Given the description of an element on the screen output the (x, y) to click on. 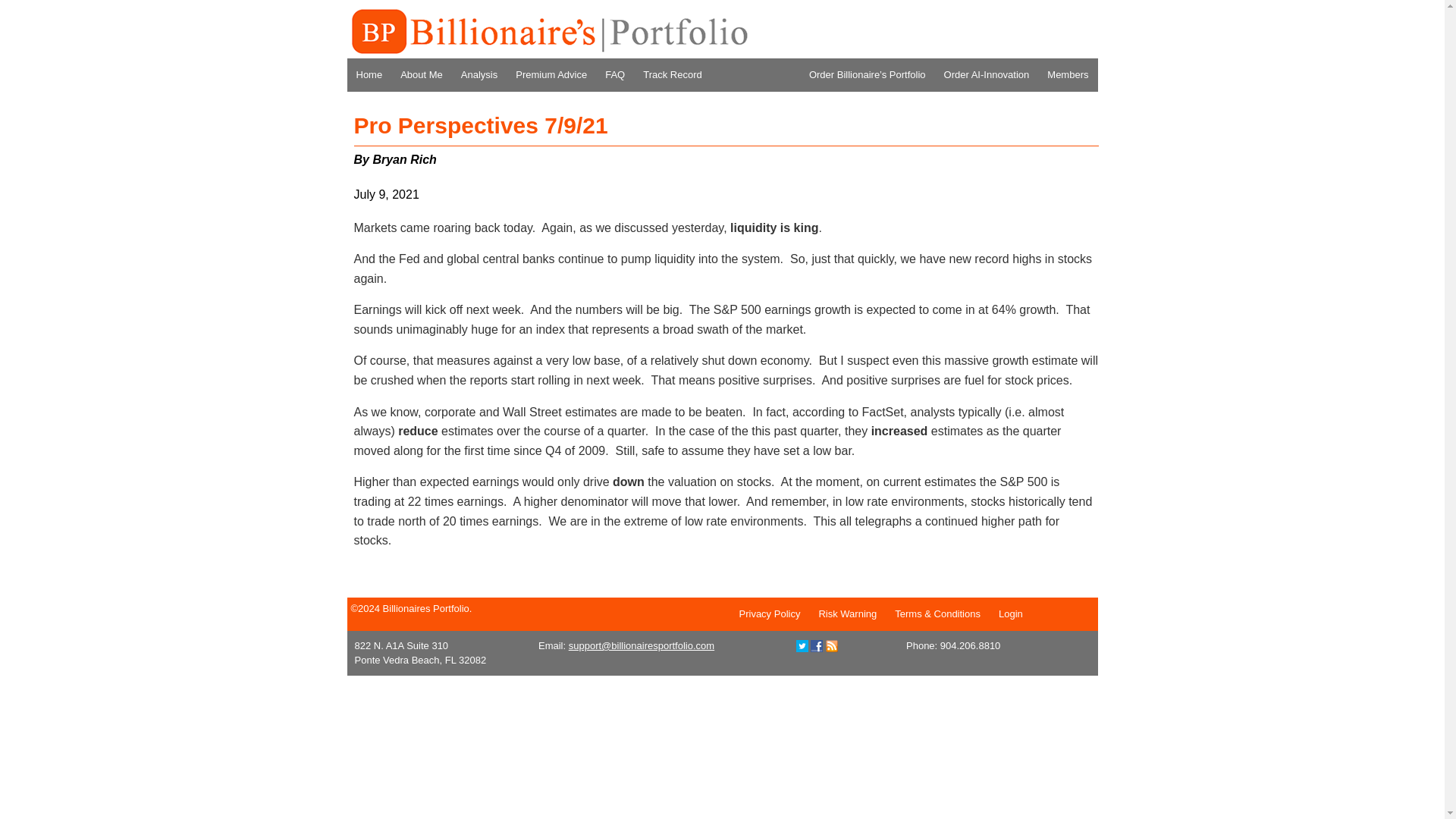
Facebook (816, 645)
Login (1010, 613)
FAQ (614, 74)
About Me (421, 74)
Analysis (478, 74)
Members (1067, 74)
Premium Advice (550, 74)
Privacy Policy (768, 613)
Home (369, 74)
Global Investor Monthly (548, 31)
RSS (831, 645)
Twitter (802, 645)
Order AI-Innovation (986, 74)
Track Record (672, 74)
Risk Warning (847, 613)
